Given the description of an element on the screen output the (x, y) to click on. 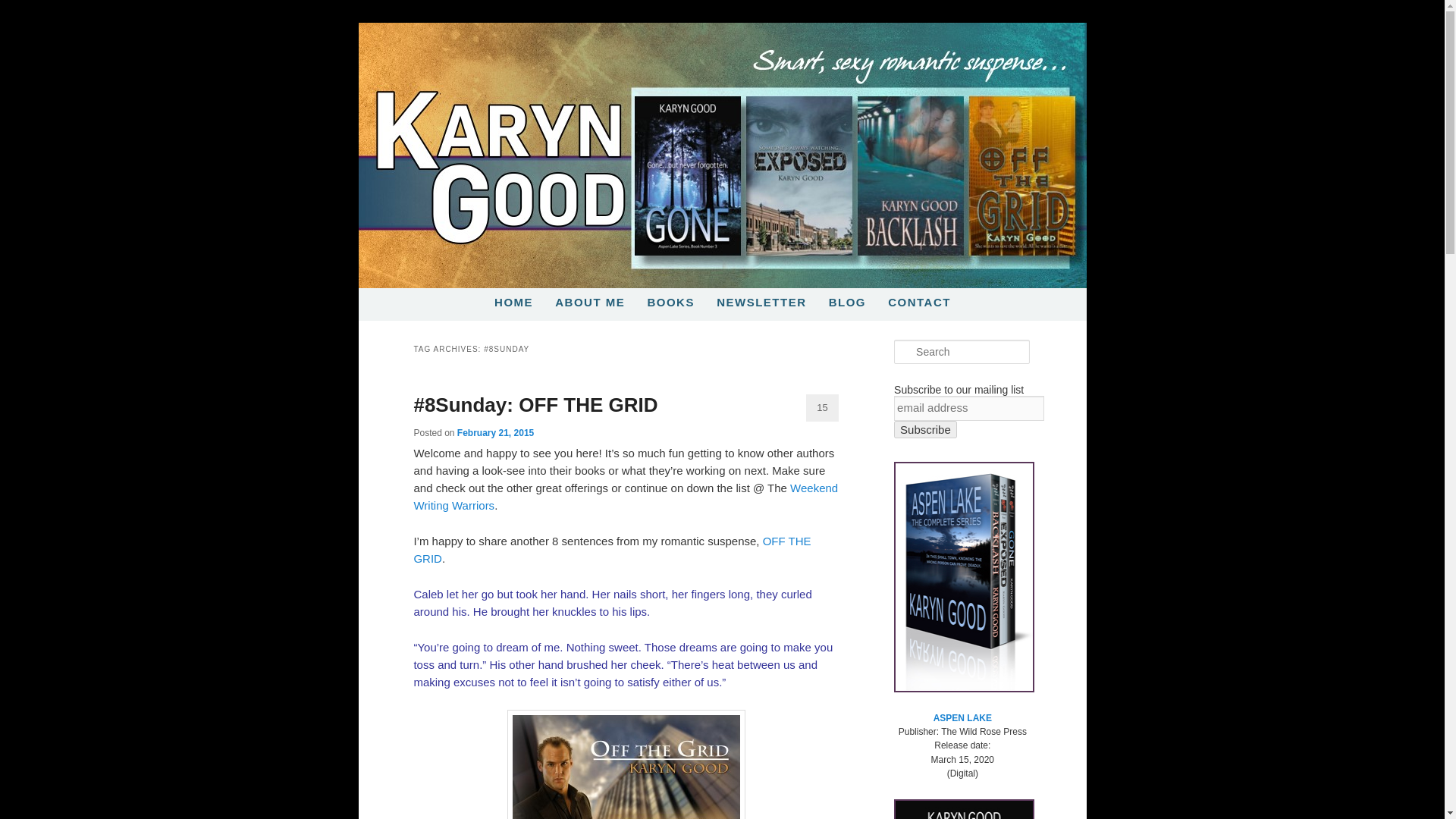
Weekend Writing Warriors (625, 496)
OFF THE GRID (611, 549)
HOME (513, 301)
12:30 pm (495, 432)
OFF THE GRID (611, 549)
NEWSLETTER (761, 301)
BOOKS (670, 301)
Page 82 (625, 638)
ABOUT ME (589, 301)
CONTACT (919, 301)
BLOG (847, 301)
Weekend Writing Warriors (625, 496)
Subscribe (924, 429)
15 (822, 407)
February 21, 2015 (495, 432)
